Given the description of an element on the screen output the (x, y) to click on. 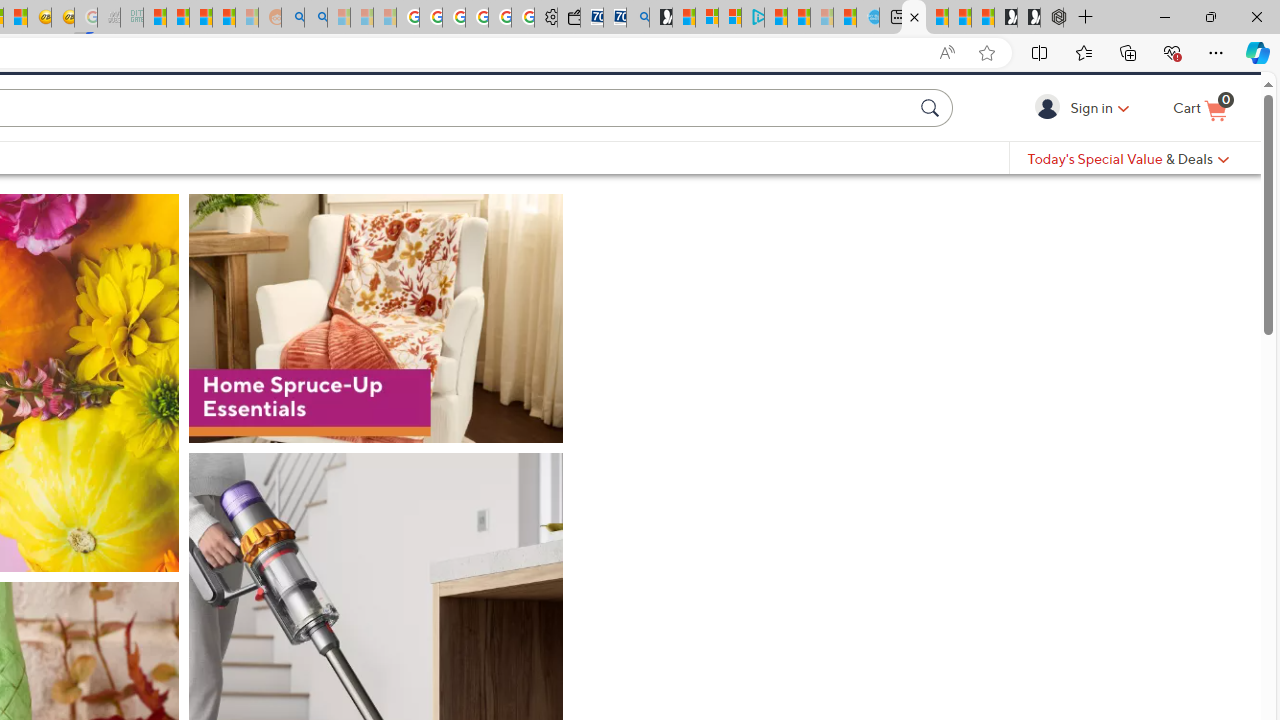
Home Spruce-Up Essentials (376, 379)
Cheap Car Rentals - Save70.com (614, 17)
Today's Special Value & Deals (1128, 192)
